Given the description of an element on the screen output the (x, y) to click on. 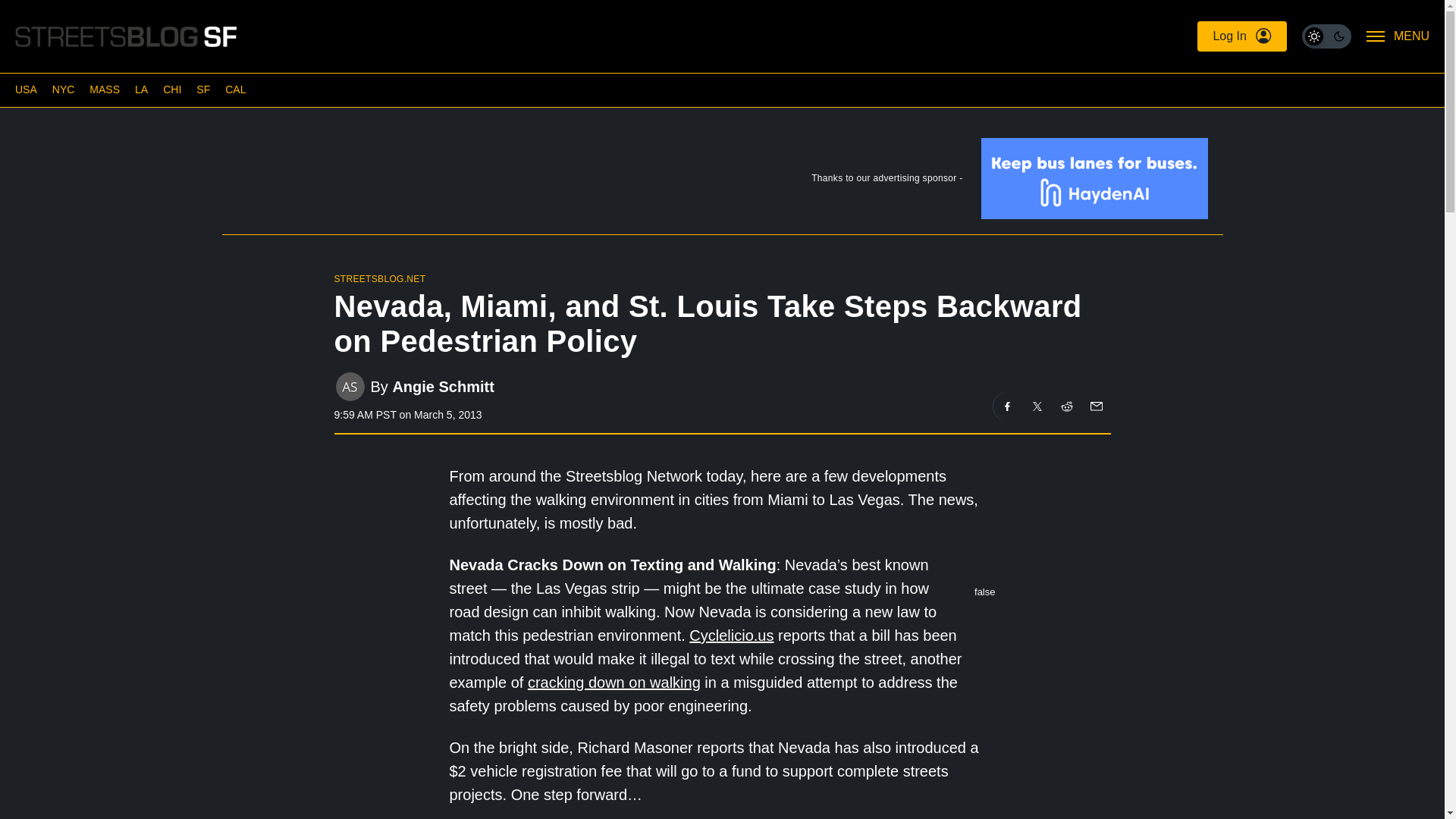
NYC (63, 89)
Share on Facebook (1007, 406)
CHI (171, 89)
CAL (235, 89)
Angie Schmitt (442, 386)
Share on Email (1095, 406)
MENU (1398, 36)
Thanks to our advertising sponsor - (721, 181)
MASS (103, 89)
Log In (1240, 36)
STREETSBLOG.NET (379, 278)
Share on Reddit (1066, 406)
USA (25, 89)
cracking down on walking (613, 682)
Cyclelicio.us (730, 635)
